Given the description of an element on the screen output the (x, y) to click on. 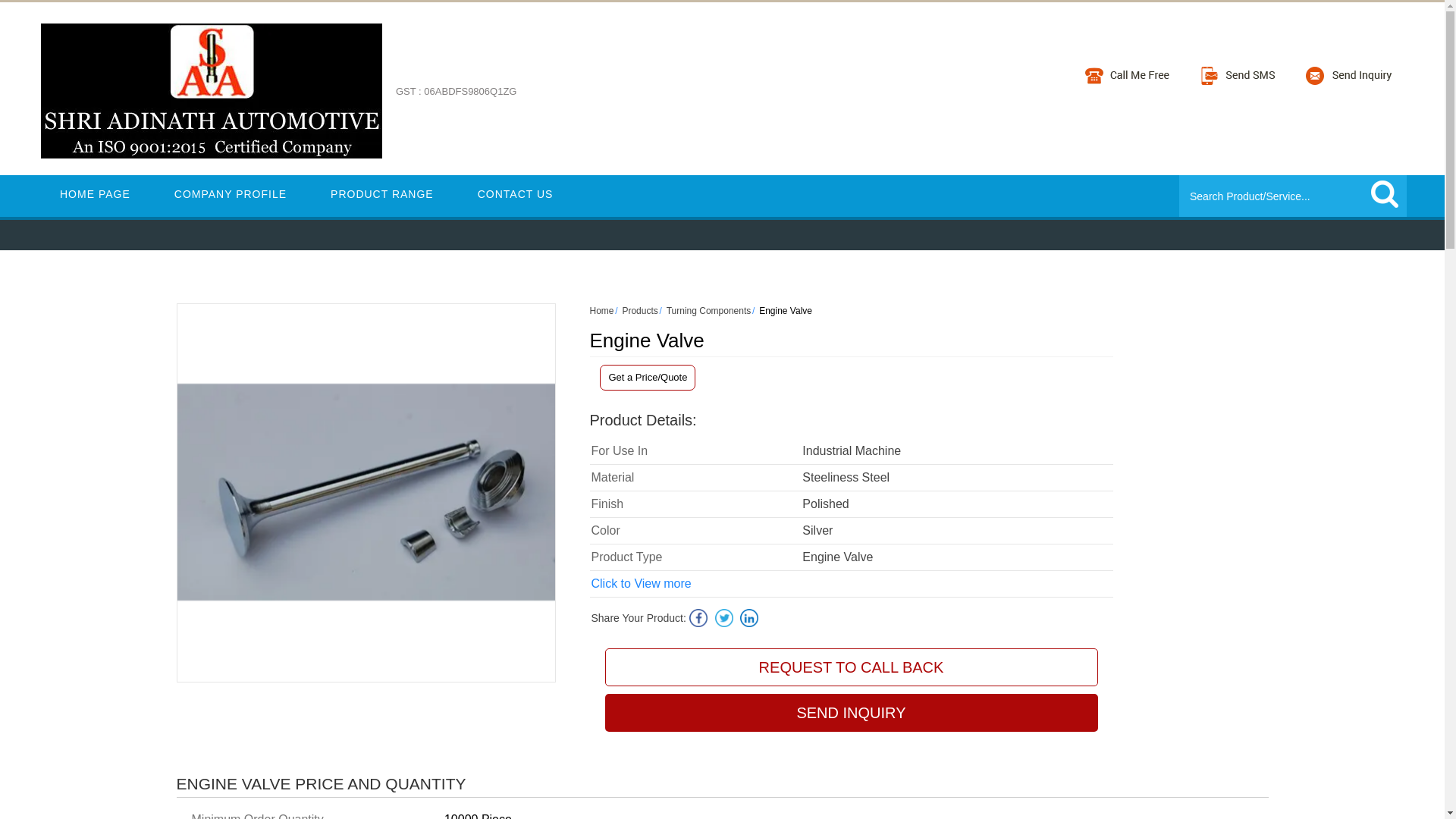
REQUEST TO CALL BACK (851, 667)
GST : 06ABDFS9806Q1ZG (456, 99)
COMPANY PROFILE (230, 193)
submit (1384, 194)
PRODUCT RANGE (381, 193)
CONTACT US (515, 193)
SEND INQUIRY (851, 712)
Click to View more (641, 583)
Home (601, 310)
Turning Components (708, 310)
Products (639, 310)
HOME PAGE (94, 193)
submit (1384, 194)
